Given the description of an element on the screen output the (x, y) to click on. 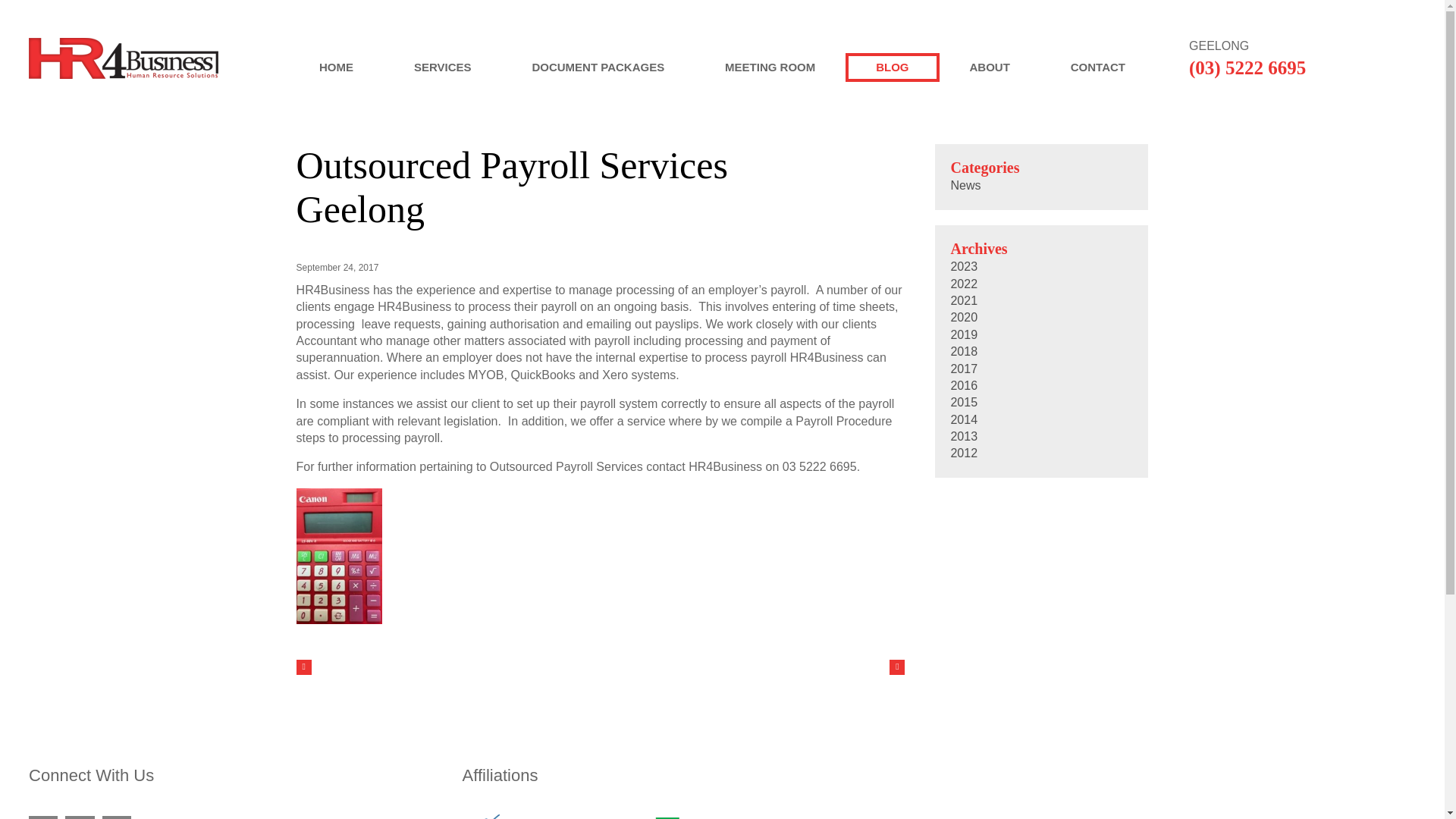
DOCUMENT PACKAGES (597, 67)
HOME (336, 67)
SERVICES (443, 67)
